Given the description of an element on the screen output the (x, y) to click on. 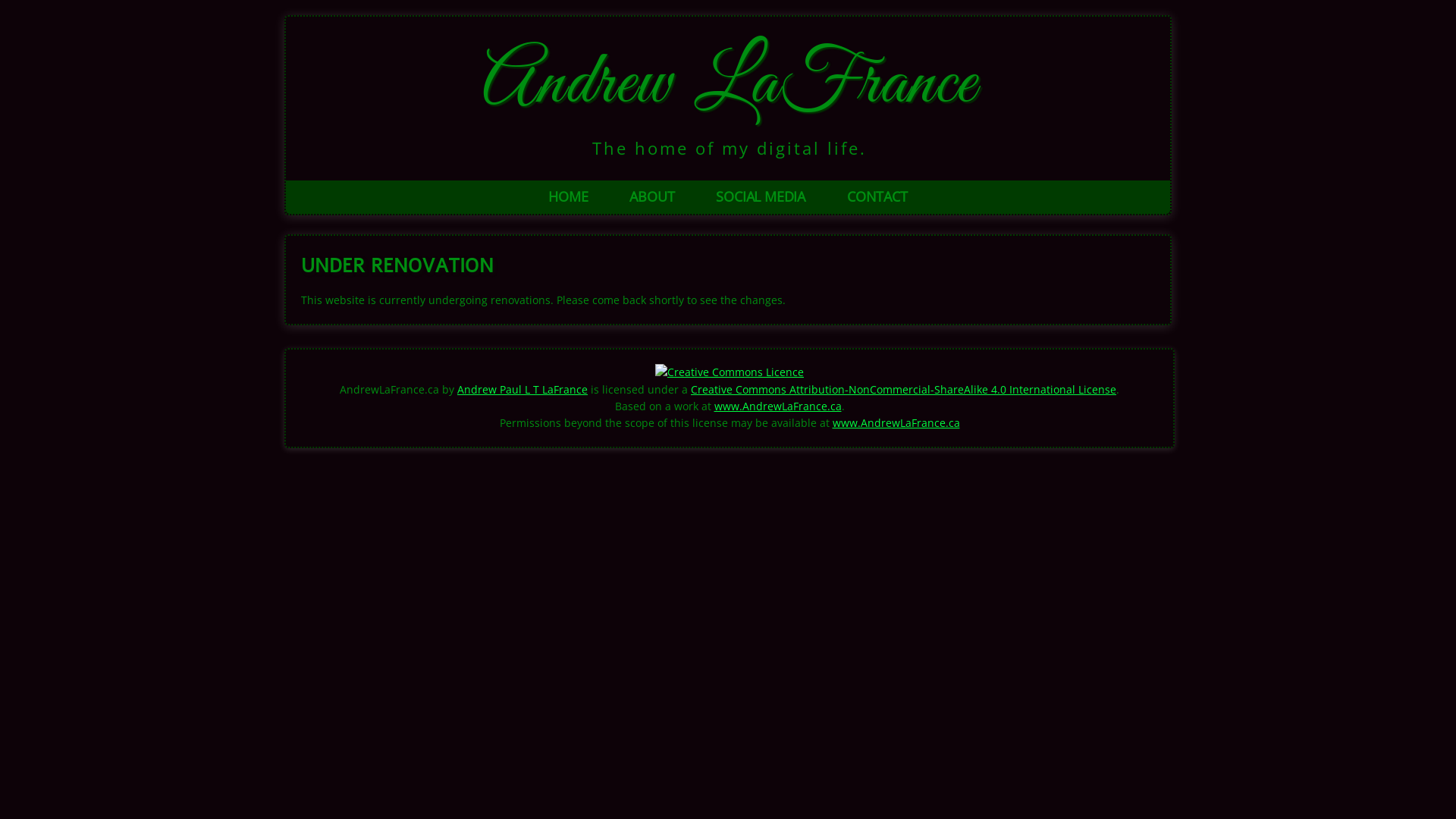
SOCIAL MEDIA Element type: text (760, 196)
CONTACT Element type: text (877, 196)
Andrew Paul L T LaFrance Element type: text (522, 389)
www.AndrewLaFrance.ca Element type: text (896, 422)
HOME Element type: text (567, 196)
Andrew LaFrance Element type: text (729, 84)
www.AndrewLaFrance.ca Element type: text (777, 405)
ABOUT Element type: text (651, 196)
